Given the description of an element on the screen output the (x, y) to click on. 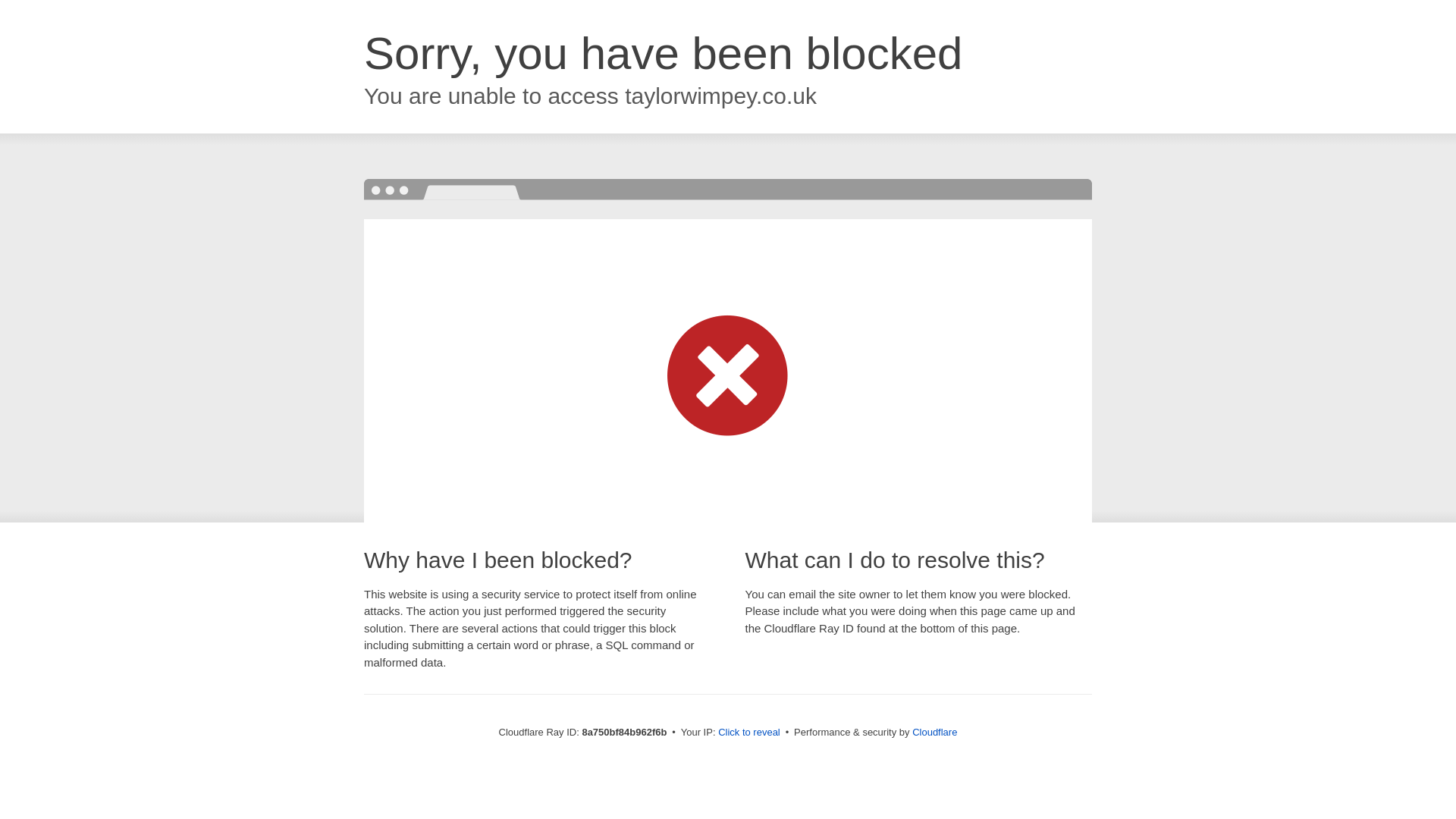
Cloudflare (934, 731)
Click to reveal (748, 732)
